Given the description of an element on the screen output the (x, y) to click on. 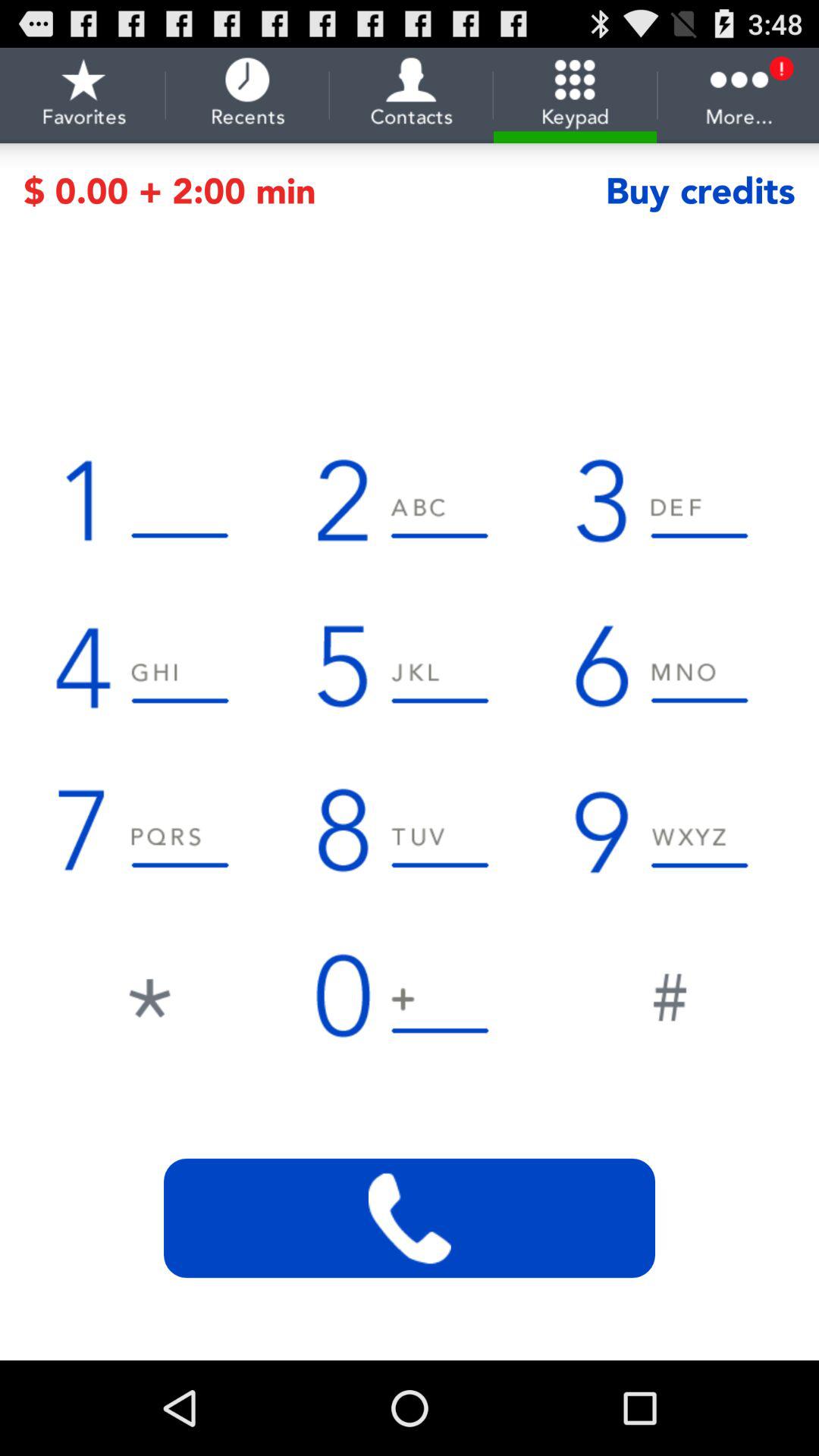
scroll until buy credits (700, 190)
